Given the description of an element on the screen output the (x, y) to click on. 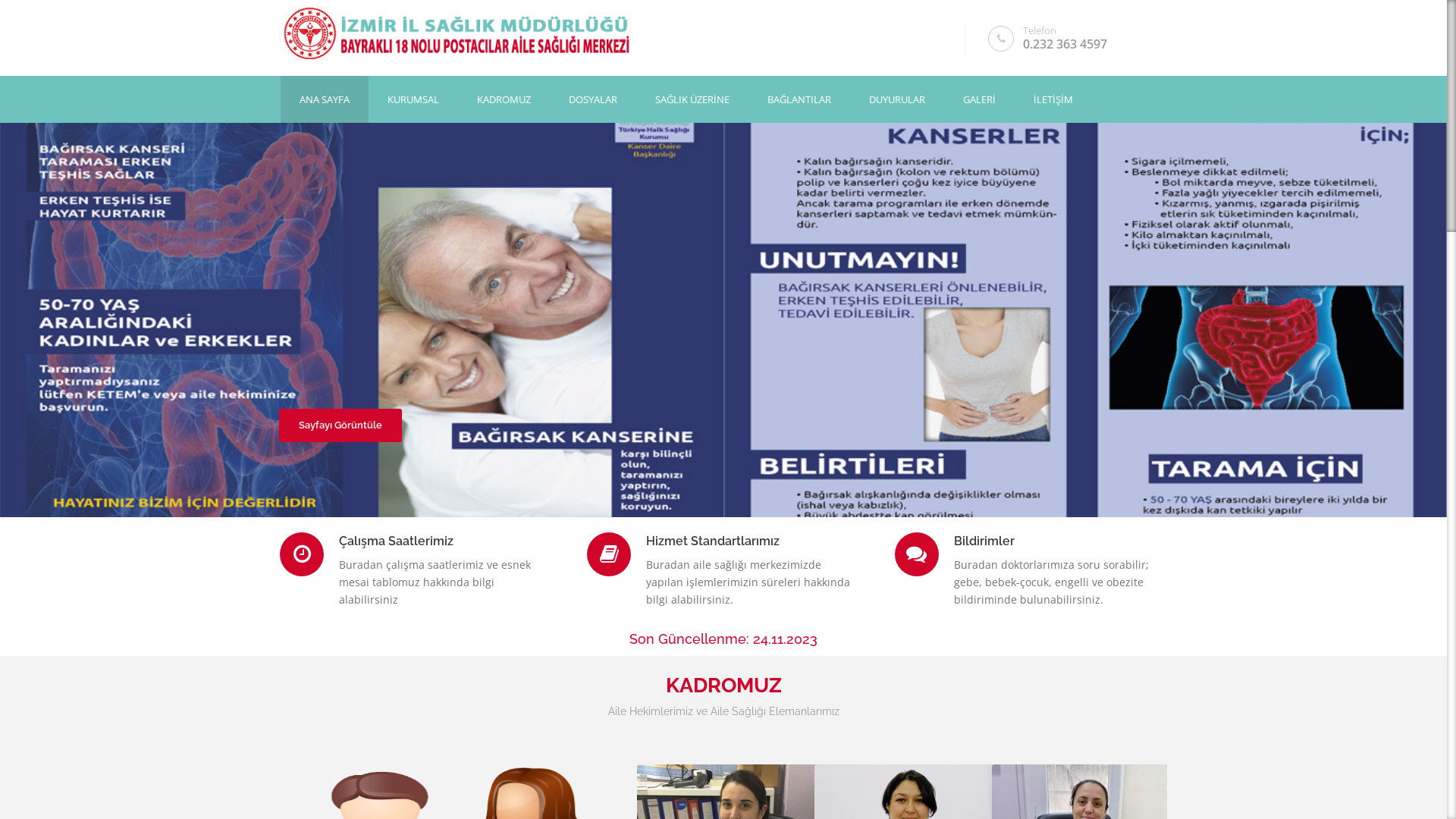
KADROMUZ Element type: text (503, 98)
DOSYALAR Element type: text (592, 98)
Bildirimler Element type: text (1030, 540)
ANA SAYFA Element type: text (324, 98)
KURUMSAL Element type: text (413, 98)
DUYURULAR Element type: text (897, 98)
